Given the description of an element on the screen output the (x, y) to click on. 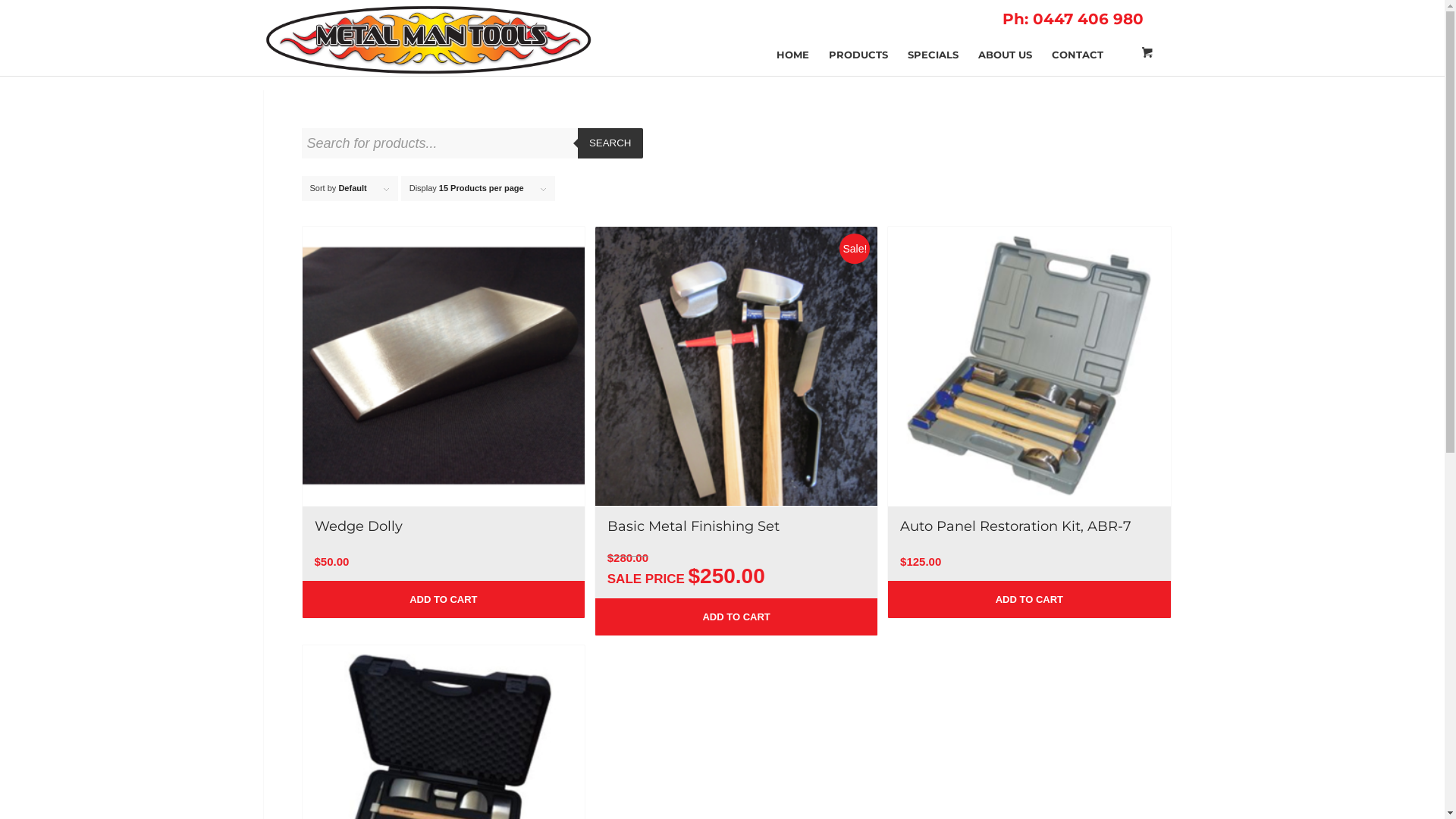
ADD TO CART Element type: text (442, 599)
Ph: 0447 406 980 Element type: text (1072, 18)
PRODUCTS Element type: text (858, 39)
Basic Metal Finishing Set
$280.00
$250.00
Sale! Element type: text (736, 412)
Metal-Man-Logo Element type: hover (428, 39)
SEARCH Element type: text (610, 143)
HOME Element type: text (791, 39)
SPECIALS Element type: text (932, 39)
Wedge Dolly
$50.00 Element type: text (442, 403)
ADD TO CART Element type: text (736, 616)
Auto Panel Restoration Kit, ABR-7
$125.00 Element type: text (1029, 403)
ADD TO CART Element type: text (1029, 599)
CONTACT Element type: text (1077, 39)
ABOUT US Element type: text (1004, 39)
